Given the description of an element on the screen output the (x, y) to click on. 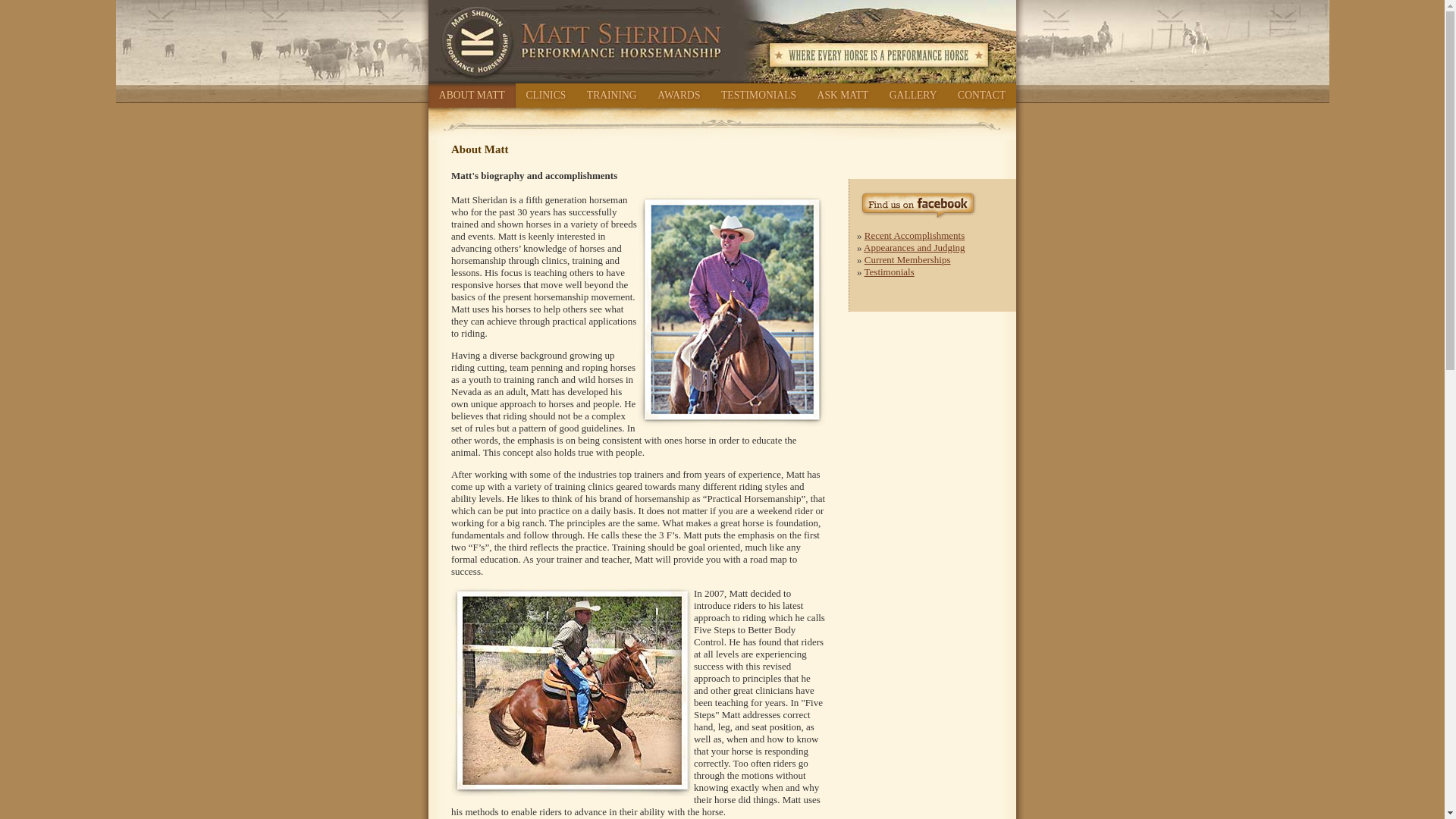
Current Memberships (907, 259)
TRAINING (611, 95)
Recent Accomplishments (914, 235)
CLINICS (545, 95)
ABOUT MATT (471, 95)
Testimonials (889, 271)
AWARDS (678, 95)
ASK MATT (842, 95)
CONTACT (981, 95)
GALLERY (913, 95)
